Given the description of an element on the screen output the (x, y) to click on. 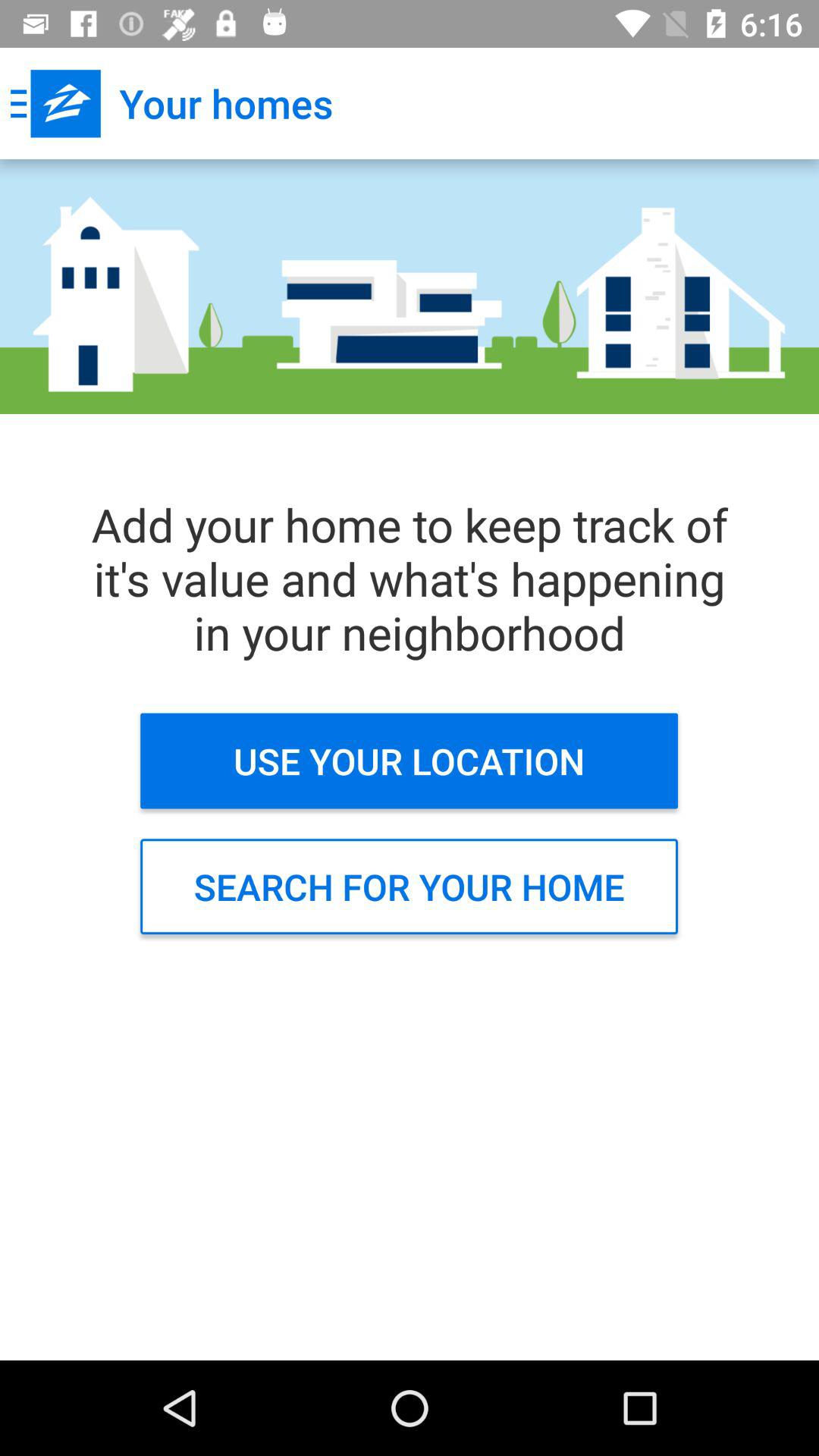
open the icon next to the your homes app (55, 103)
